Given the description of an element on the screen output the (x, y) to click on. 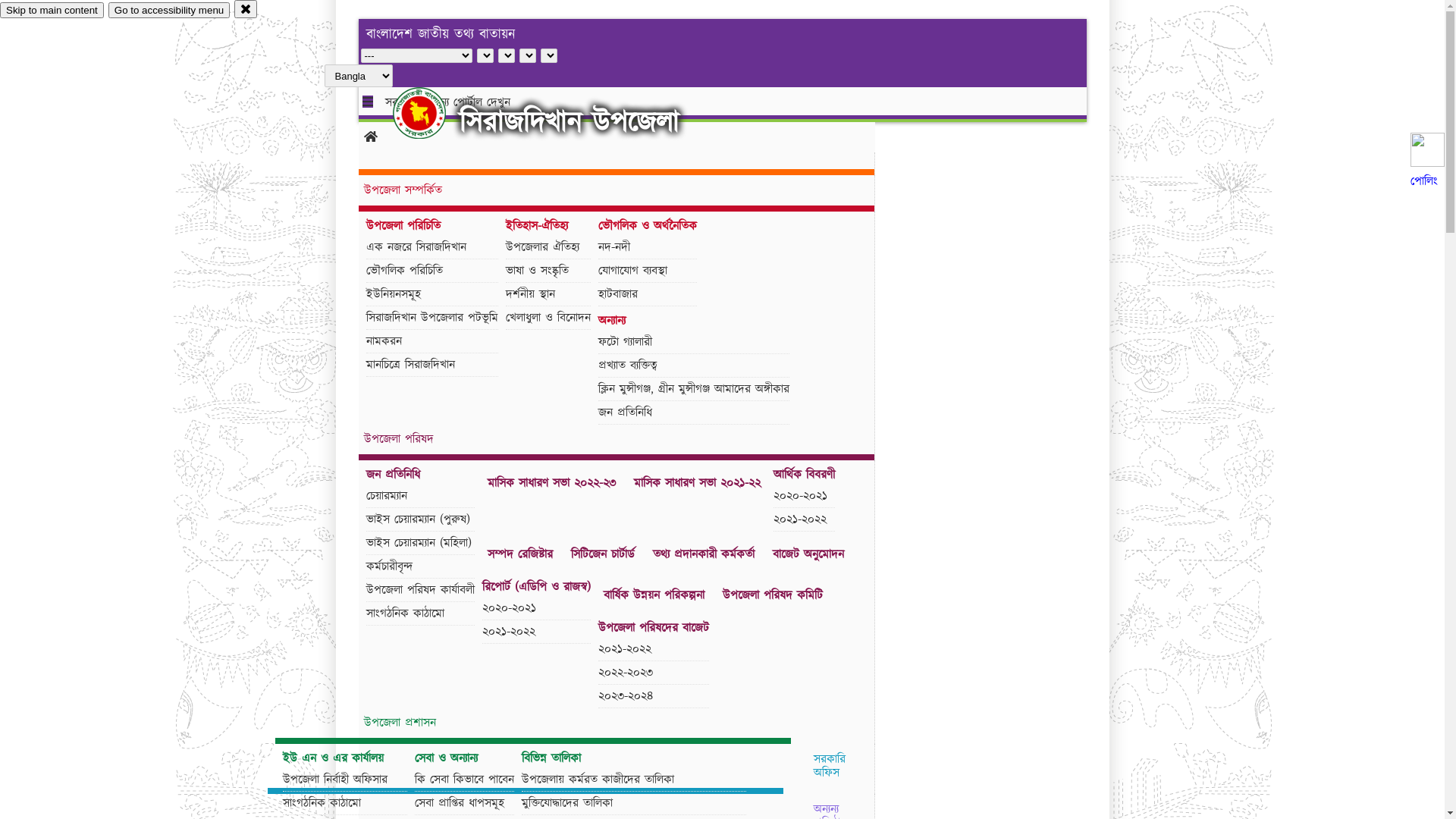
Skip to main content Element type: text (51, 10)
Go to accessibility menu Element type: text (168, 10)
close Element type: hover (245, 9)

                
             Element type: hover (431, 112)
